Given the description of an element on the screen output the (x, y) to click on. 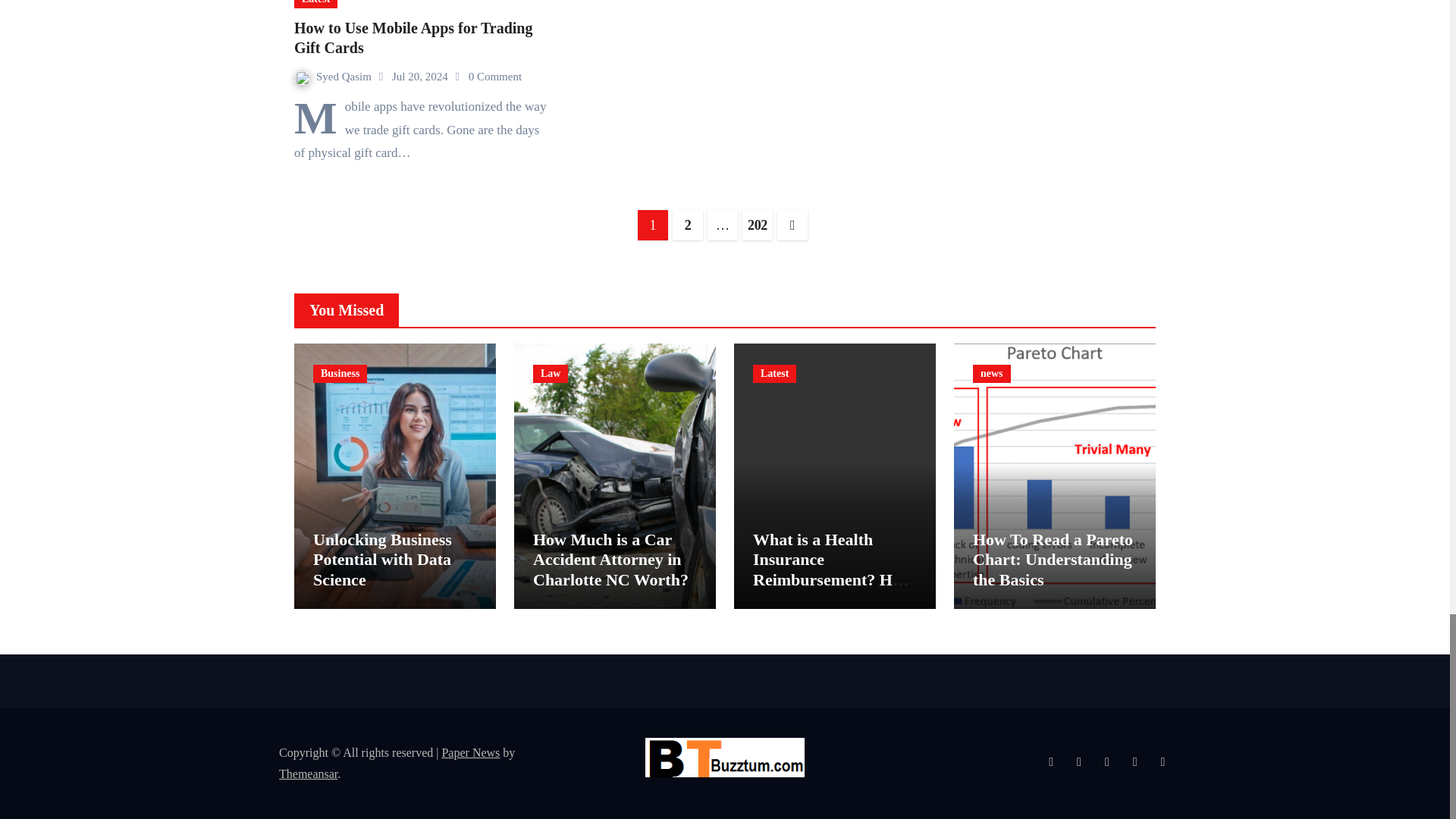
Permalink to: Unlocking Business Potential with Data Science (382, 558)
